Given the description of an element on the screen output the (x, y) to click on. 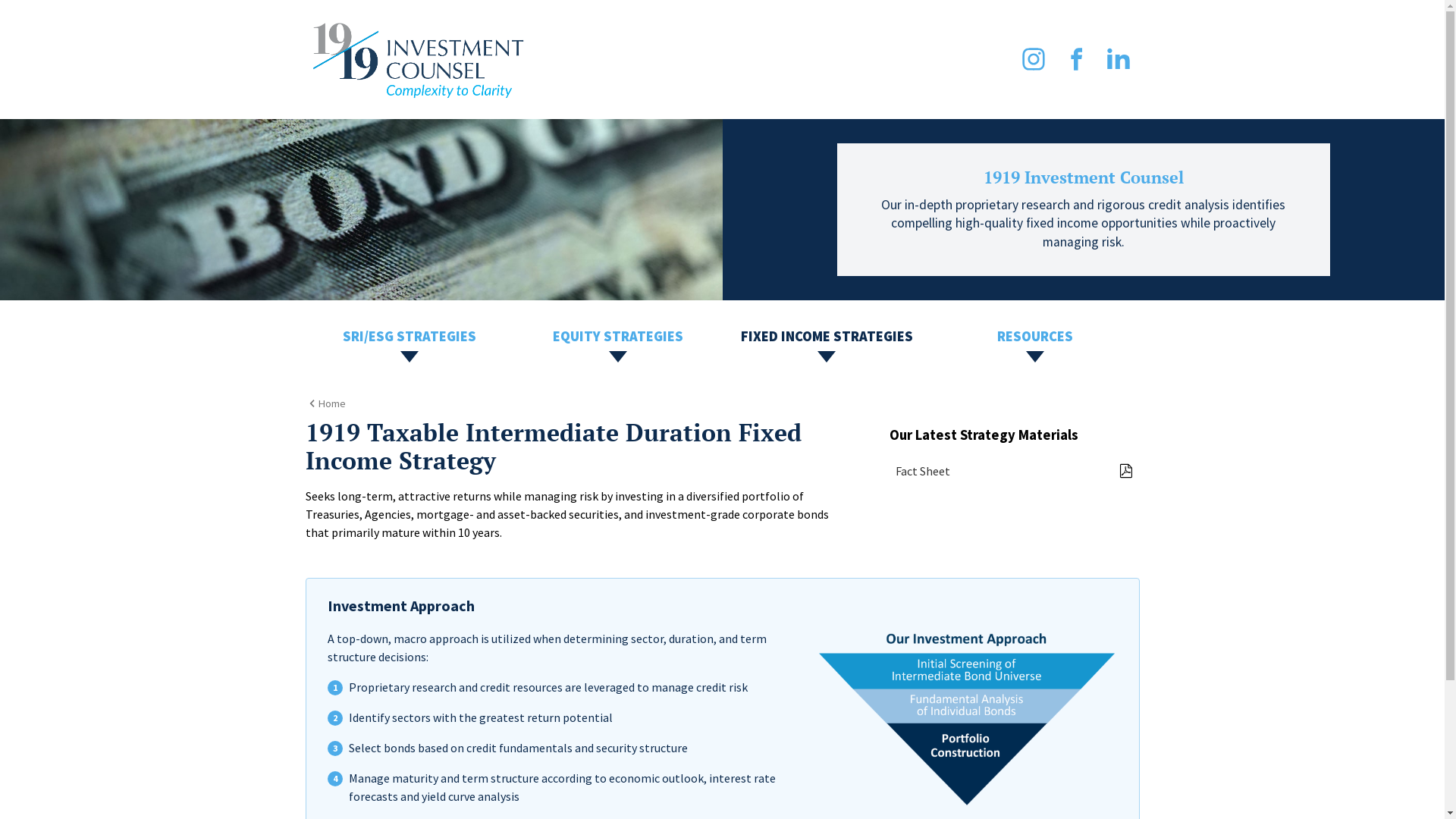
Facebook Element type: hover (1075, 58)
LinkedIn Element type: hover (1117, 58)
Home Element type: text (324, 403)
Instagram Element type: hover (1032, 58)
Fact Sheet Element type: text (1013, 470)
